Given the description of an element on the screen output the (x, y) to click on. 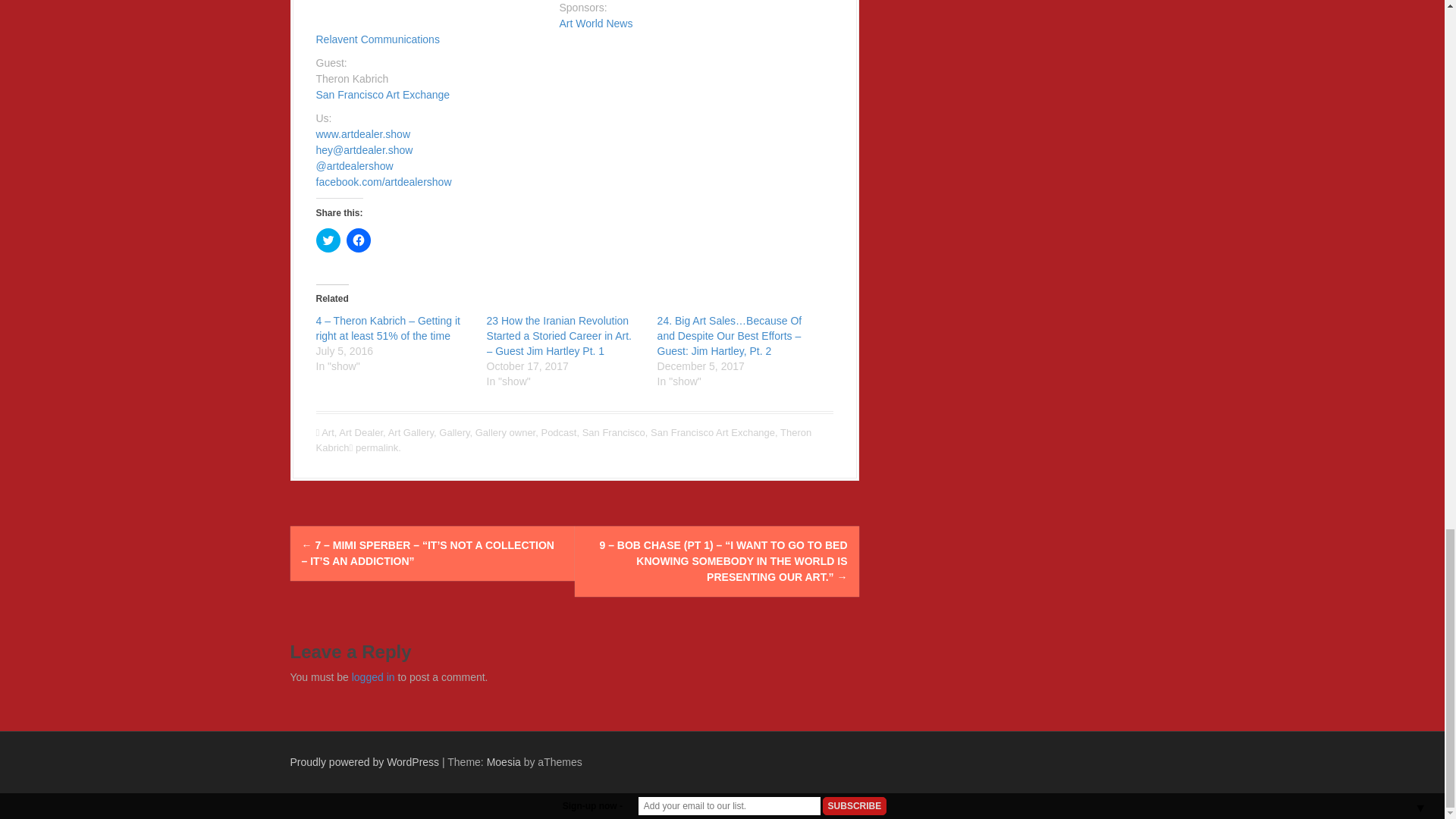
www.artdealer.show (362, 133)
Art Dealer (360, 432)
San Francisco Art Exchange (712, 432)
Art World News (596, 23)
Theron Kabrich (562, 439)
Art (327, 432)
Art Gallery (410, 432)
Click to share on Facebook (357, 240)
Click to share on Twitter (327, 240)
Podcast (558, 432)
San Francisco (613, 432)
logged in (373, 676)
permalink (374, 447)
Gallery (453, 432)
San Francisco Art Exchange (382, 94)
